Given the description of an element on the screen output the (x, y) to click on. 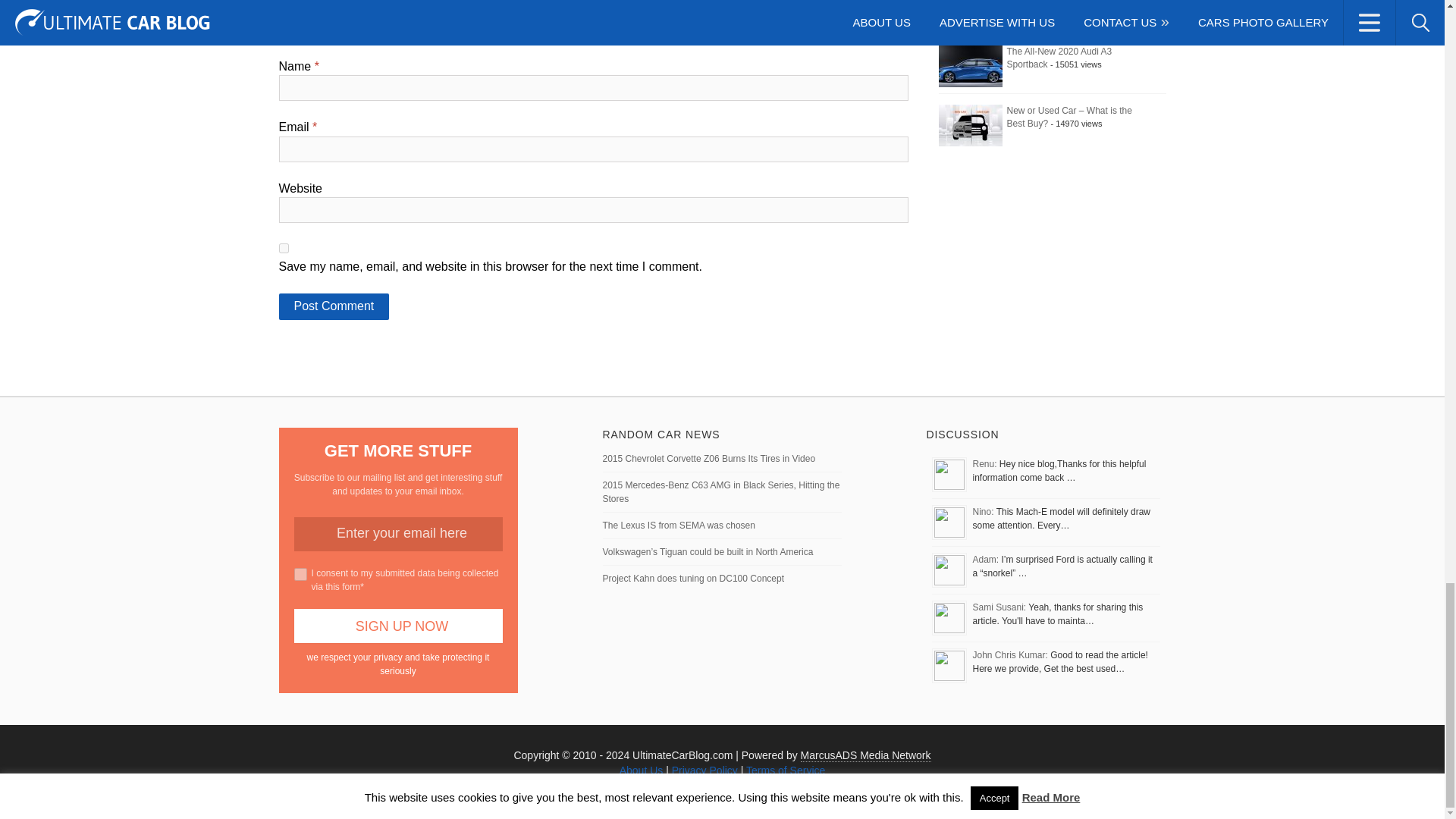
on (300, 574)
Post Comment (334, 306)
Sign Up Now (398, 625)
yes (283, 248)
